Given the description of an element on the screen output the (x, y) to click on. 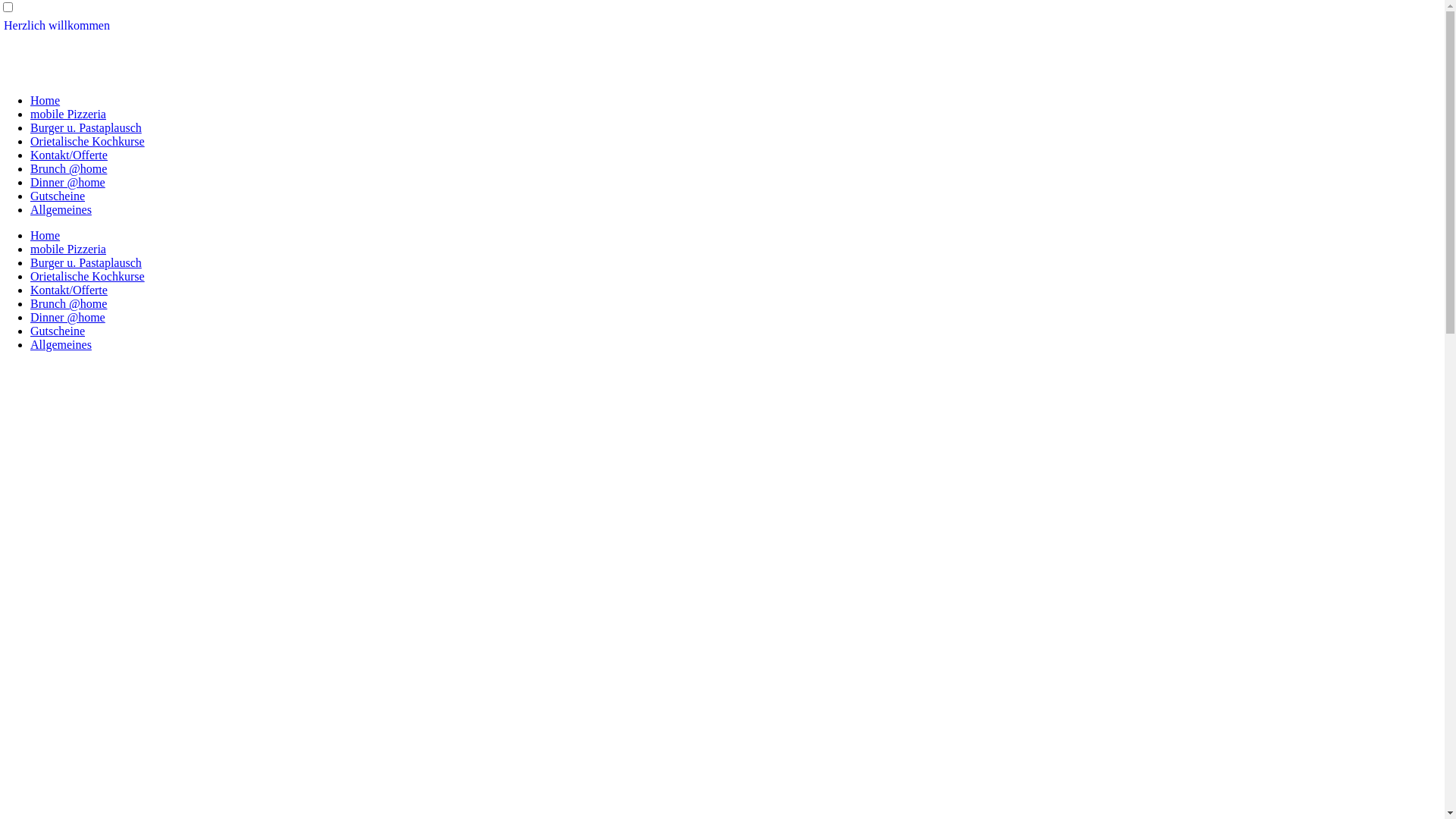
Brunch @home Element type: text (68, 303)
Herzlich willkommen Element type: text (56, 24)
Allgemeines Element type: text (60, 209)
Allgemeines Element type: text (60, 344)
Brunch @home Element type: text (68, 168)
Orietalische Kochkurse Element type: text (87, 275)
mobile Pizzeria Element type: text (68, 248)
Home Element type: text (44, 235)
Home Element type: text (44, 100)
Orietalische Kochkurse Element type: text (87, 140)
mobile Pizzeria Element type: text (68, 113)
Gutscheine Element type: text (57, 330)
Burger u. Pastaplausch Element type: text (85, 127)
Kontakt/Offerte Element type: text (68, 154)
Kontakt/Offerte Element type: text (68, 289)
Dinner @home Element type: text (67, 316)
Gutscheine Element type: text (57, 195)
Burger u. Pastaplausch Element type: text (85, 262)
Dinner @home Element type: text (67, 181)
